Given the description of an element on the screen output the (x, y) to click on. 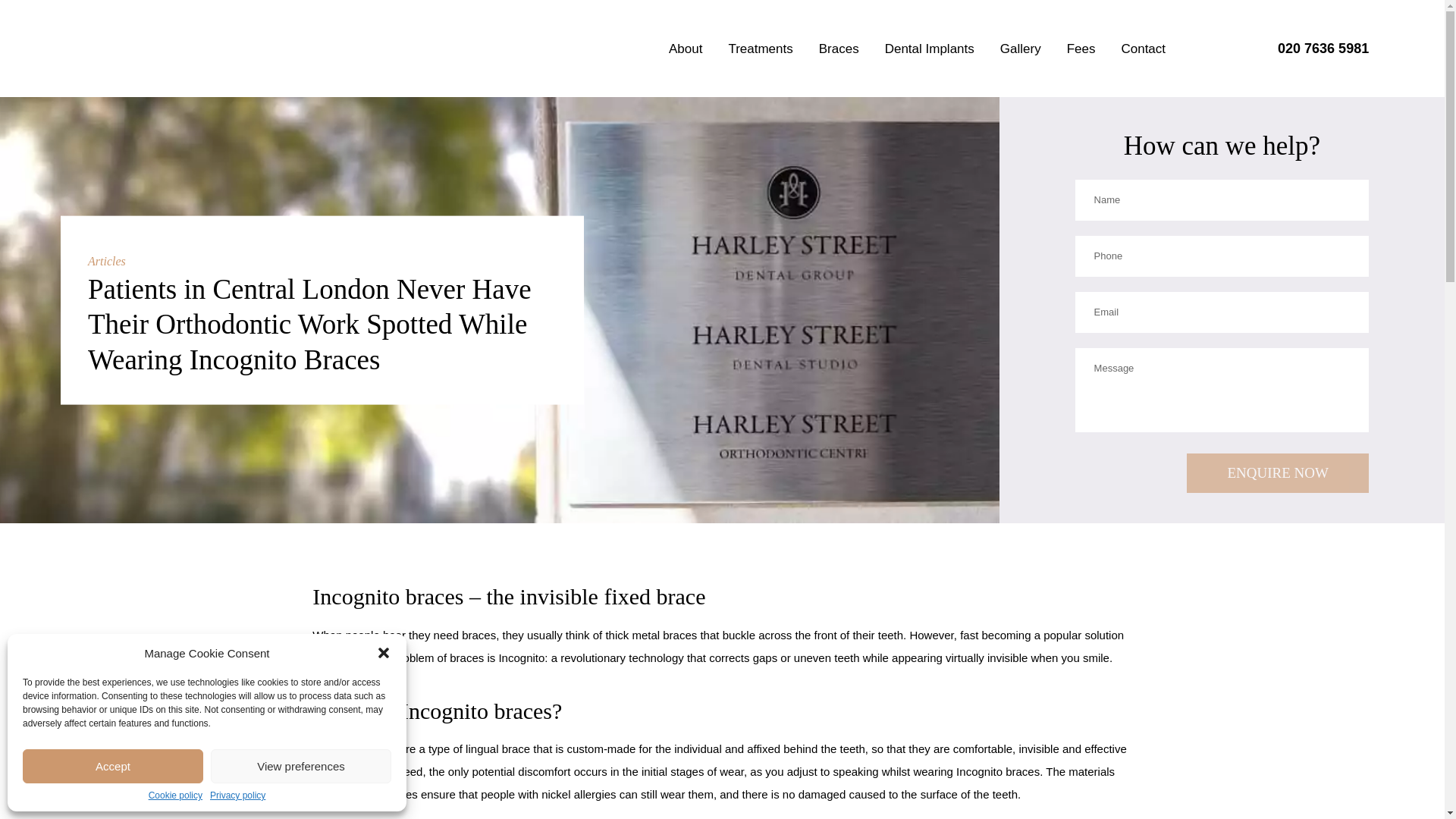
Treatments (760, 48)
Privacy policy (236, 795)
View preferences (301, 765)
Cookie policy (175, 795)
Accept (113, 765)
